Given the description of an element on the screen output the (x, y) to click on. 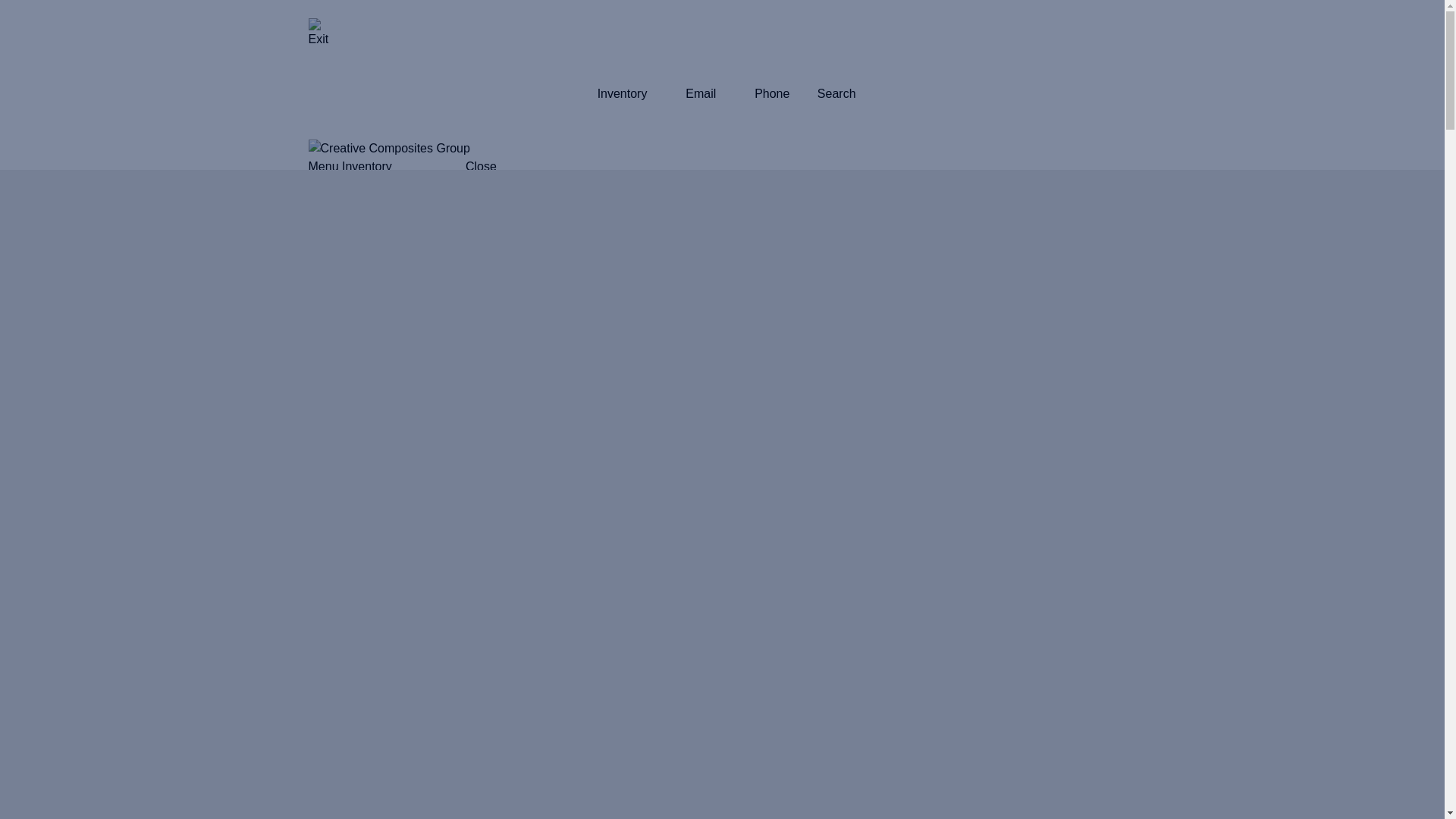
Vacuum Relief Valves (660, 774)
Search (836, 92)
Close (480, 165)
Phone (771, 92)
Bridge Decking Overview (660, 308)
Industrial Processing Equipment Overview (660, 580)
Vehicle Bridge Decking Overview (660, 463)
Creative Composites Group (387, 148)
Bridge Drainage (660, 734)
Pipes (660, 657)
Inventory (621, 92)
Bridge Decking (660, 269)
Products (522, 190)
Wind Fairings (660, 502)
Vehicle Bridge Decking (660, 424)
